Given the description of an element on the screen output the (x, y) to click on. 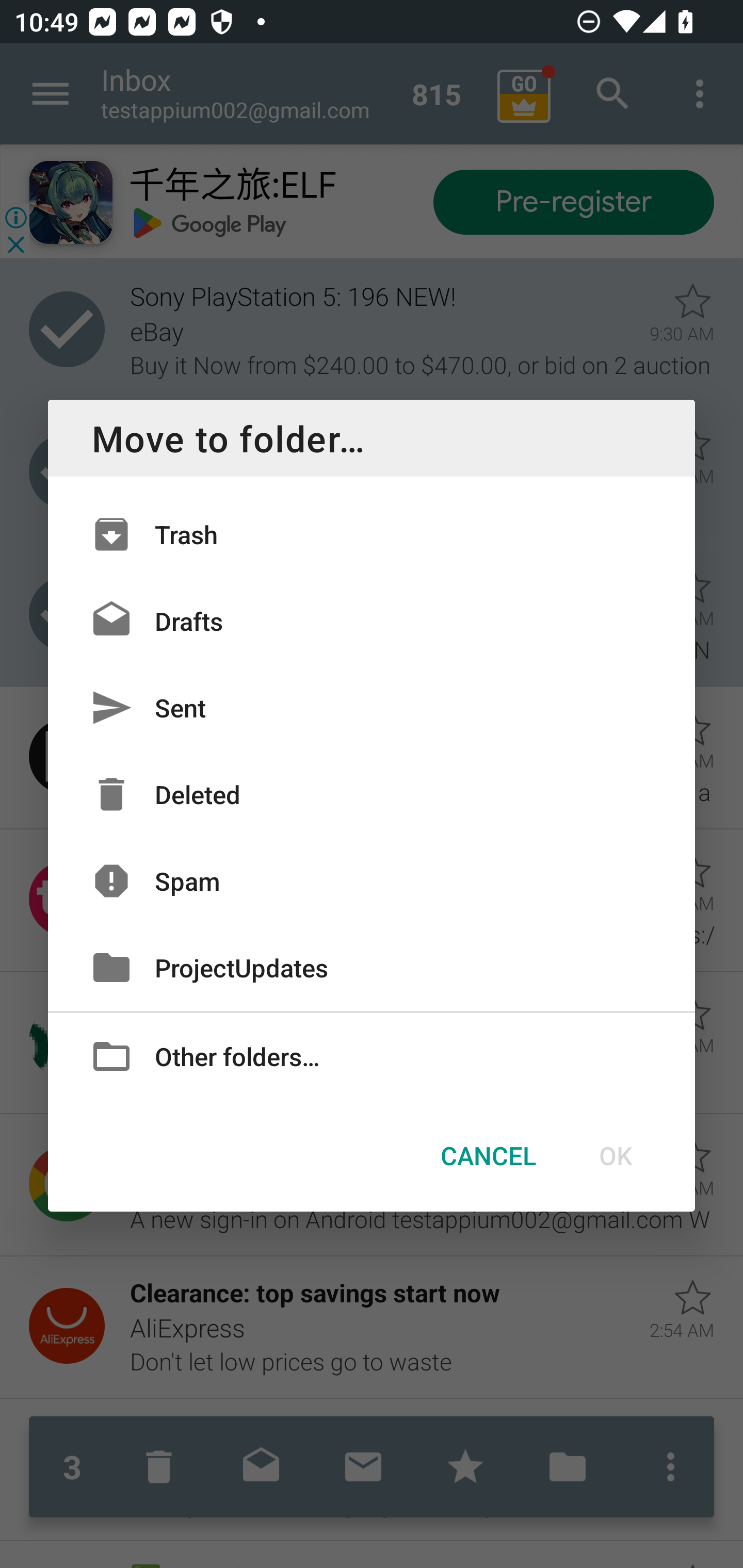
Trash (371, 533)
Drafts (371, 620)
Sent (371, 707)
Deleted (371, 794)
Spam (371, 880)
ProjectUpdates (371, 967)
Other folders… (371, 1055)
CANCEL (488, 1155)
OK (615, 1155)
